Given the description of an element on the screen output the (x, y) to click on. 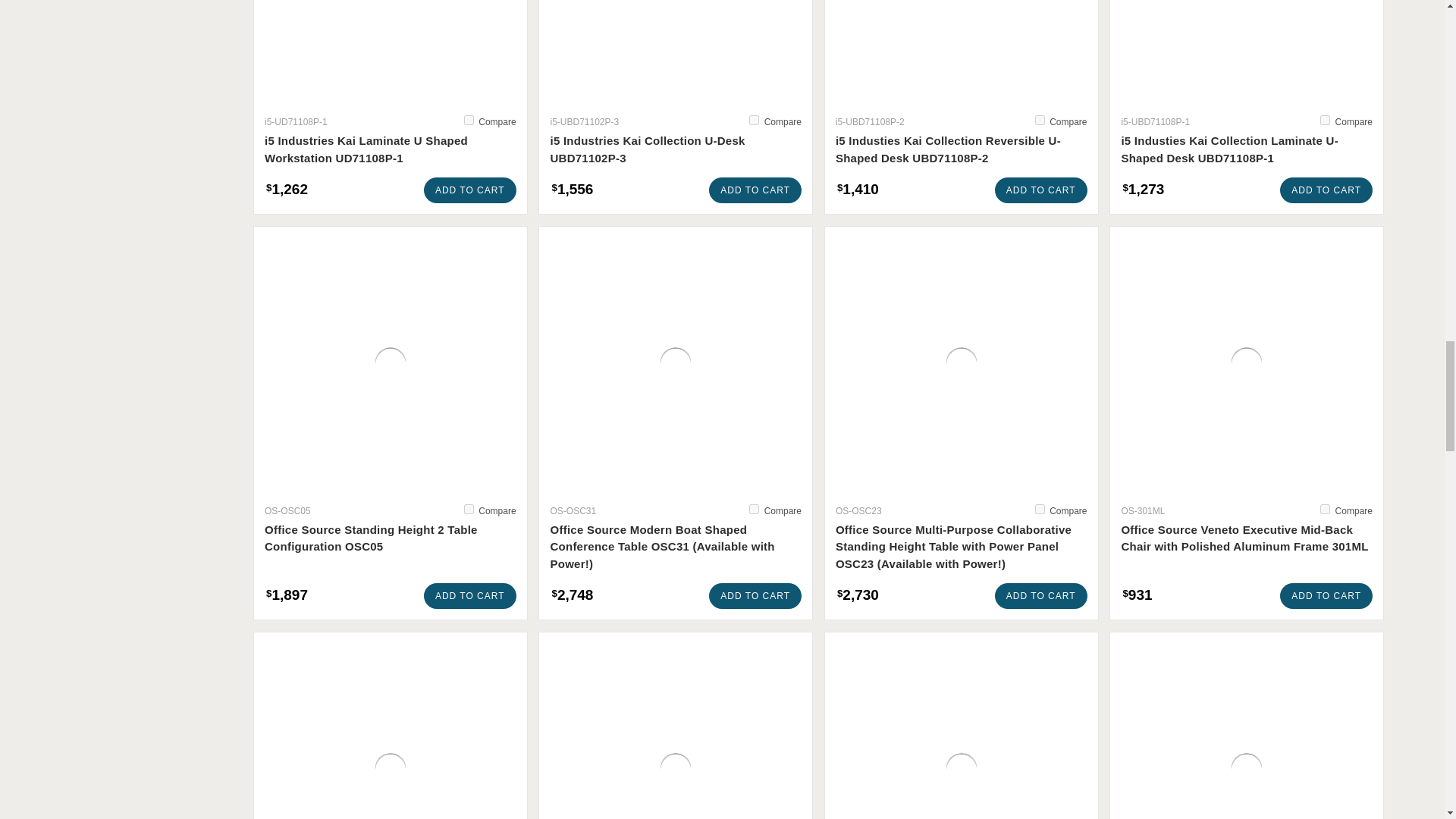
9807 (469, 120)
9800 (753, 120)
